Given the description of an element on the screen output the (x, y) to click on. 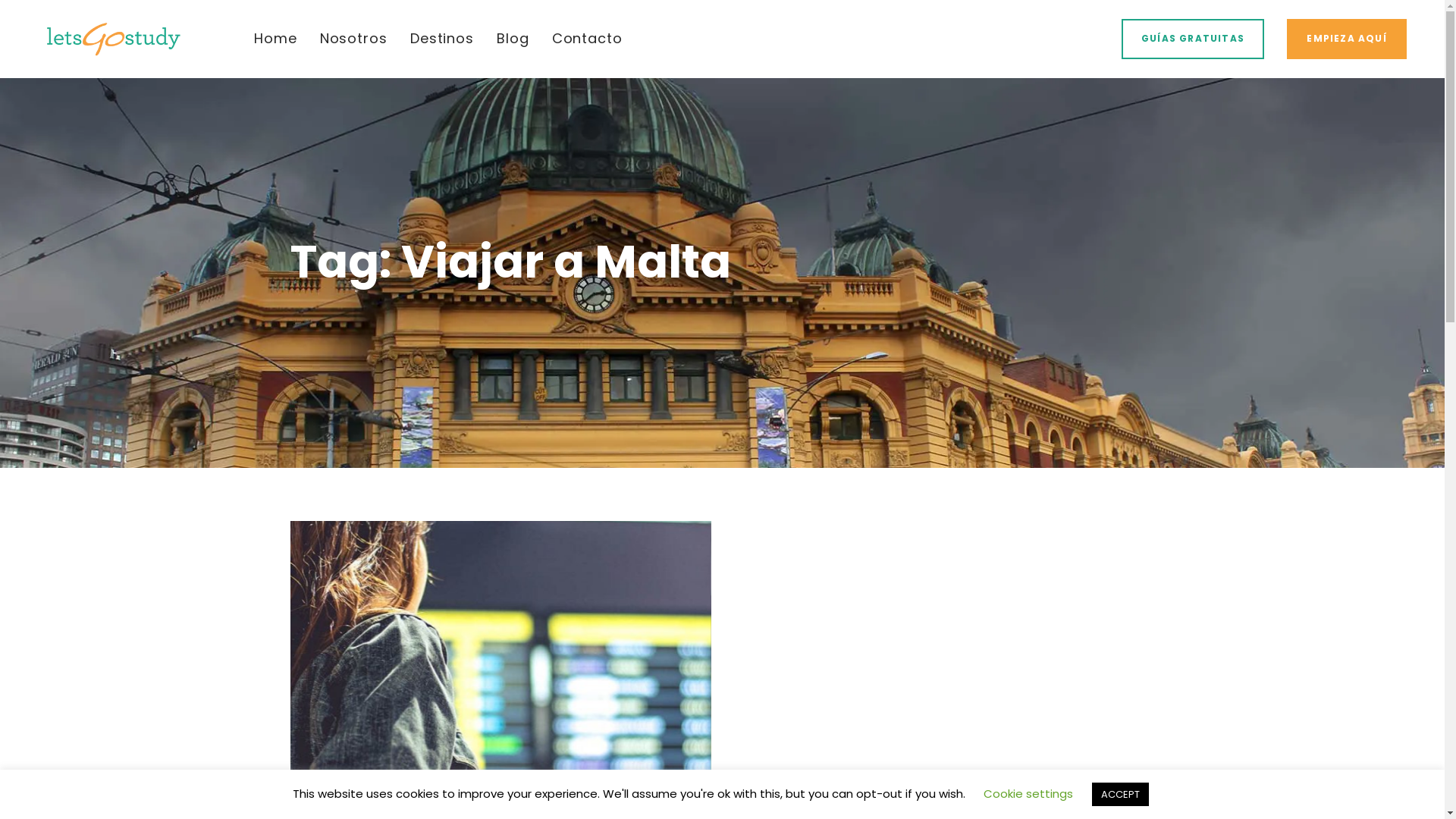
ACCEPT Element type: text (1120, 794)
Destinos Element type: text (441, 39)
Contacto Element type: text (586, 39)
Blog Element type: text (512, 39)
Cookie settings Element type: text (1027, 793)
Nosotros Element type: text (353, 39)
Home Element type: text (275, 39)
